Given the description of an element on the screen output the (x, y) to click on. 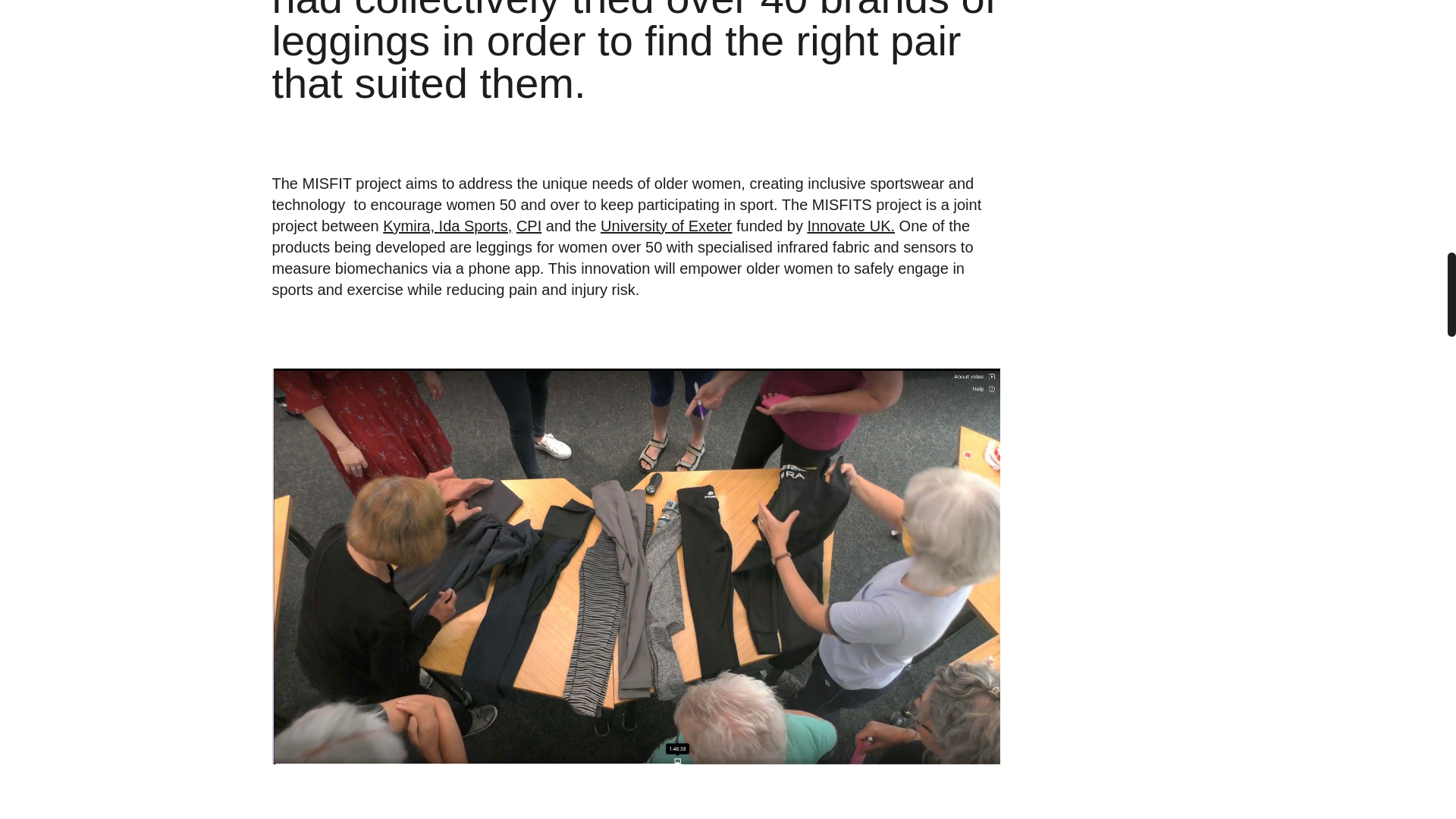
University of Exeter (665, 225)
Kymira, (410, 225)
Ida Sports, (475, 225)
CPI (528, 225)
Innovate UK. (850, 225)
